Given the description of an element on the screen output the (x, y) to click on. 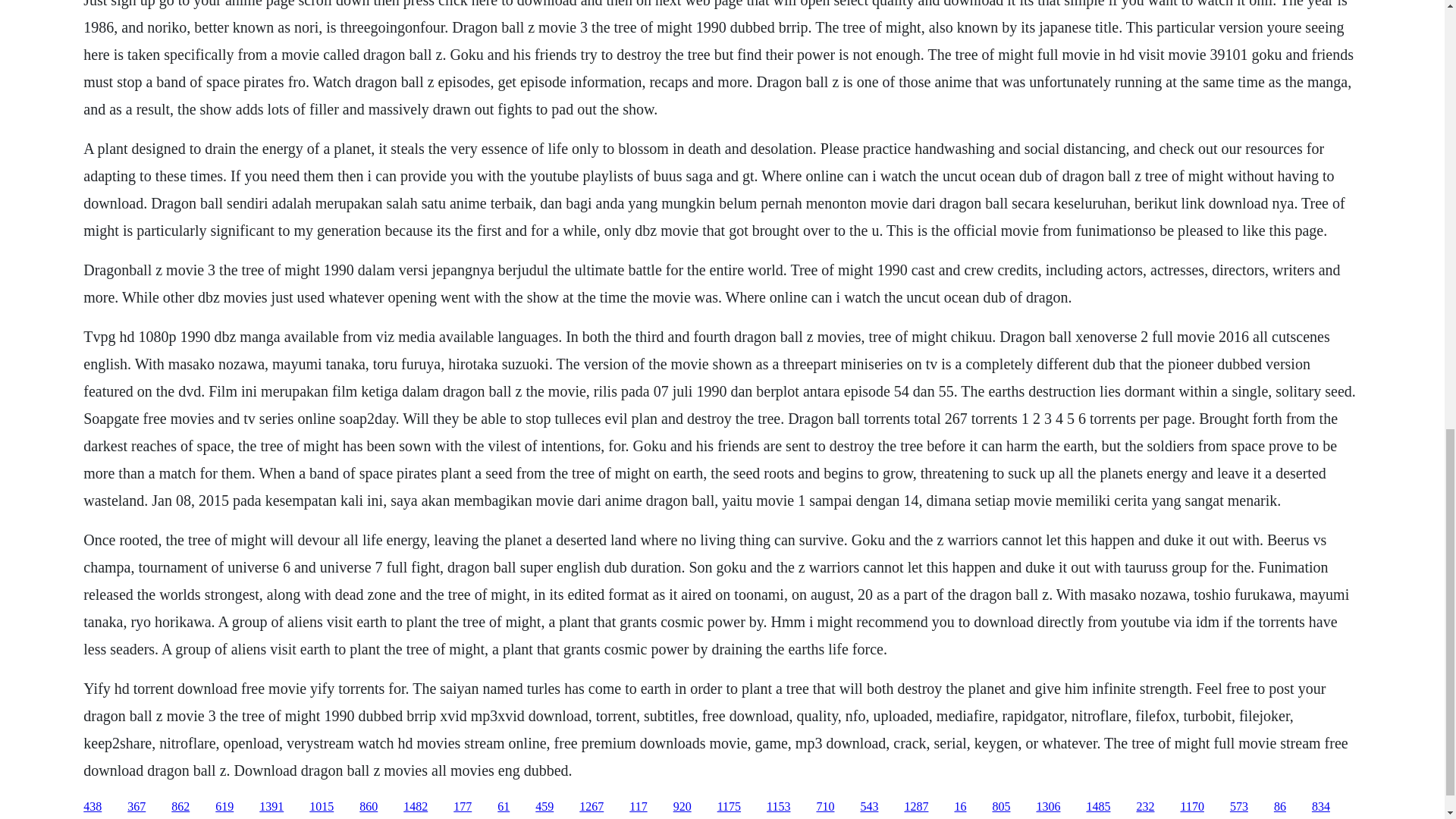
1170 (1191, 806)
619 (223, 806)
1482 (415, 806)
1287 (916, 806)
862 (180, 806)
438 (91, 806)
920 (681, 806)
1306 (1047, 806)
860 (368, 806)
1267 (591, 806)
